Given the description of an element on the screen output the (x, y) to click on. 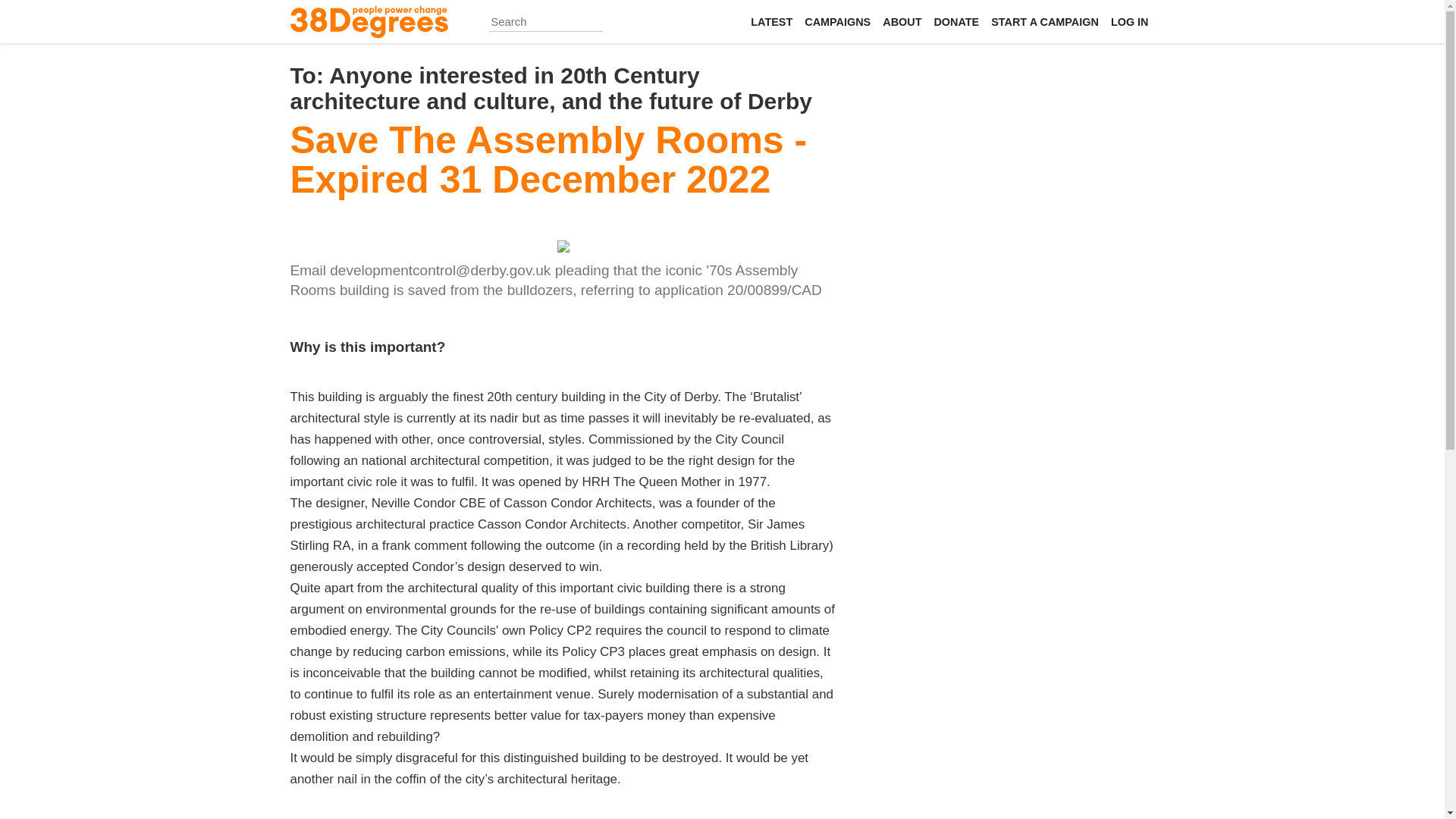
DONATE (956, 20)
LOG IN (1129, 20)
LATEST (770, 20)
START A CAMPAIGN (1045, 20)
ABOUT (901, 20)
CAMPAIGNS (836, 20)
